Given the description of an element on the screen output the (x, y) to click on. 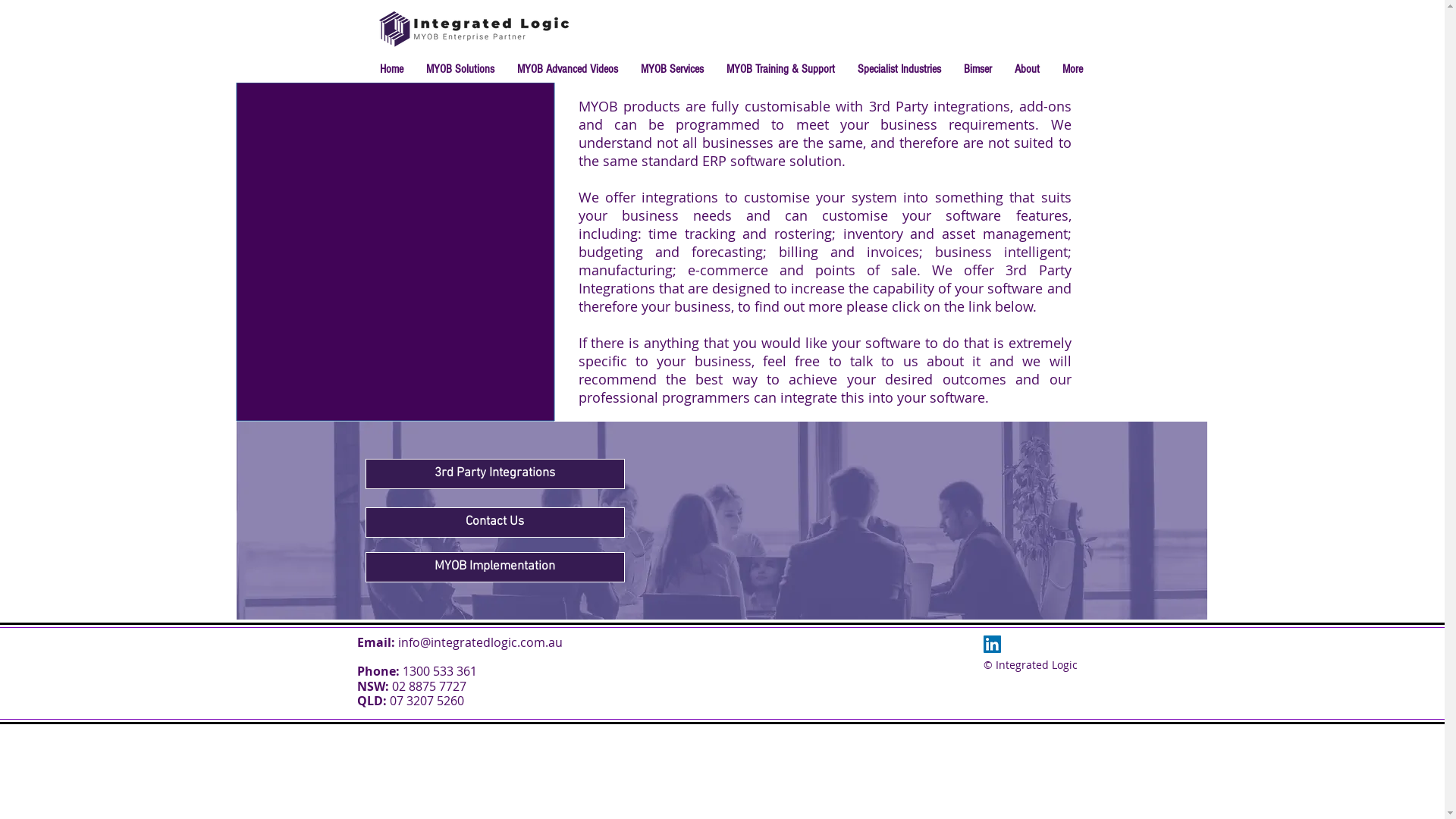
Contact Us Element type: text (494, 522)
info@integratedlogic.com.au Element type: text (479, 641)
3rd Party Integrations Element type: text (494, 473)
About Element type: text (1026, 68)
MYOB Implementation Element type: text (494, 567)
Bimser Element type: text (977, 68)
MYOB Solutions Element type: text (459, 68)
MYOB Training & Support Element type: text (779, 68)
Home Element type: text (391, 68)
MYOB Services Element type: text (672, 68)
Specialist Industries Element type: text (899, 68)
MYOB Advanced Videos Element type: text (566, 68)
